Given the description of an element on the screen output the (x, y) to click on. 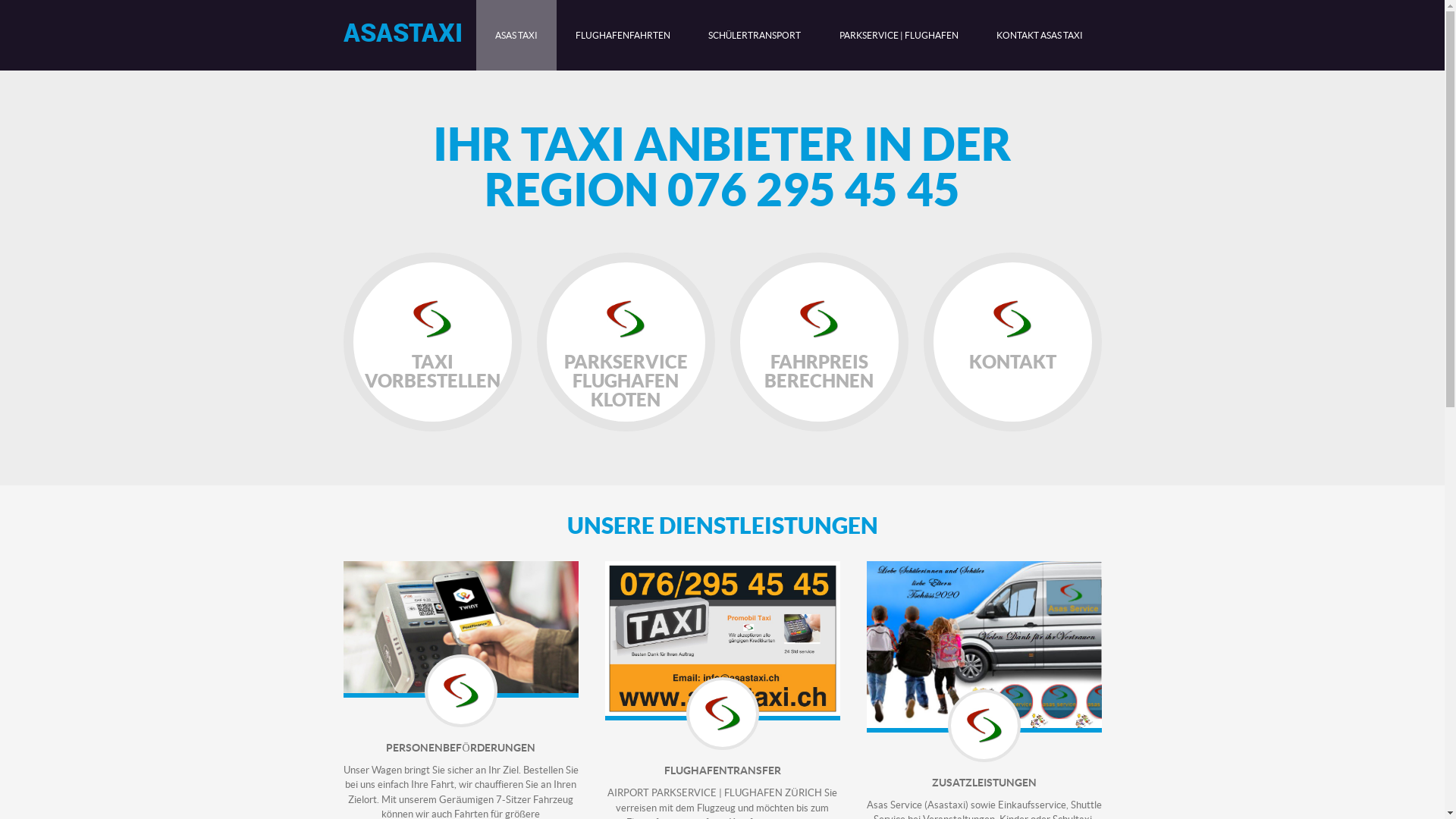
TAXI VORBESTELLEN Element type: text (431, 341)
FLUGHAFENTRANSFER Element type: text (722, 770)
ZUSATZLEISTUNGEN Element type: text (983, 782)
FAHRPREIS BERECHNEN Element type: text (818, 341)
KONTAKT Element type: text (1012, 341)
ASASTAXI Element type: text (401, 31)
FLUGHAFENFAHRTEN Element type: text (622, 35)
PARKSERVICE | FLUGHAFEN Element type: text (898, 35)
KONTAKT ASAS TAXI Element type: text (1038, 35)
PARKSERVICE FLUGHAFEN KLOTEN Element type: text (625, 341)
ASAS TAXI Element type: text (516, 35)
